Given the description of an element on the screen output the (x, y) to click on. 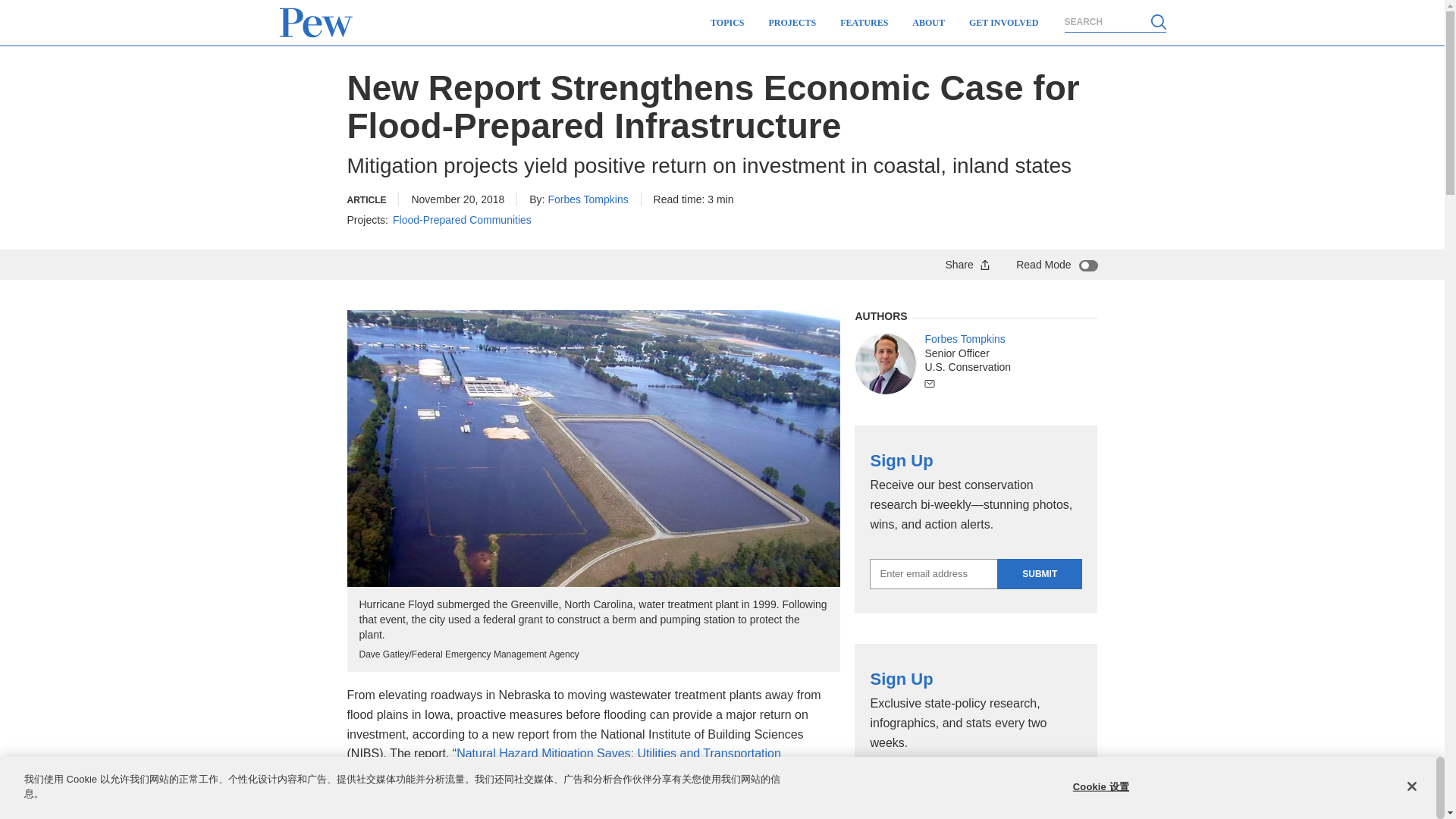
PROJECTS (792, 22)
Submit (1039, 573)
TOPICS (726, 22)
Submit (1039, 792)
